Given the description of an element on the screen output the (x, y) to click on. 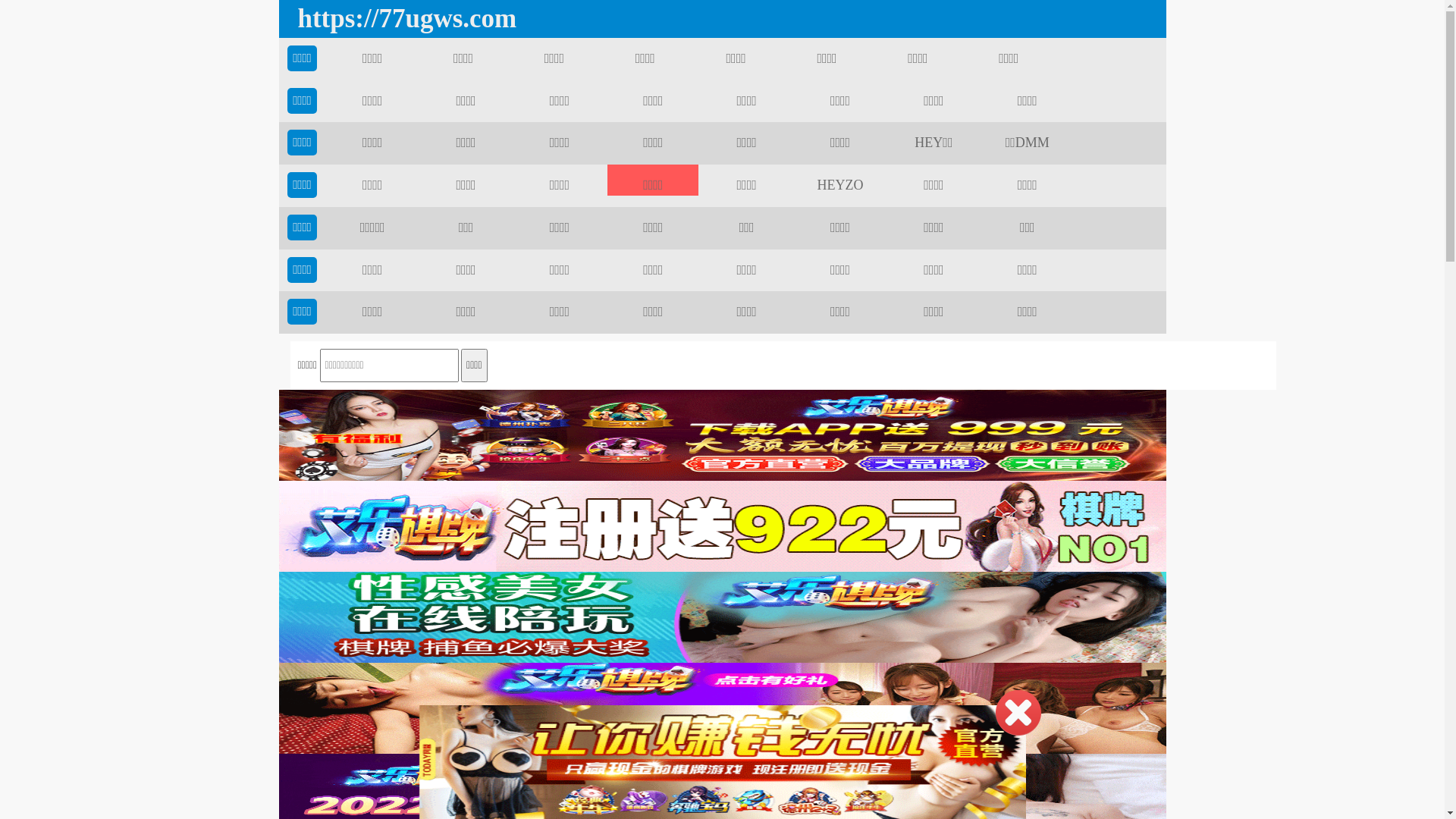
HEYZO Element type: text (840, 184)
https://77ugws.com Element type: text (402, 18)
